Given the description of an element on the screen output the (x, y) to click on. 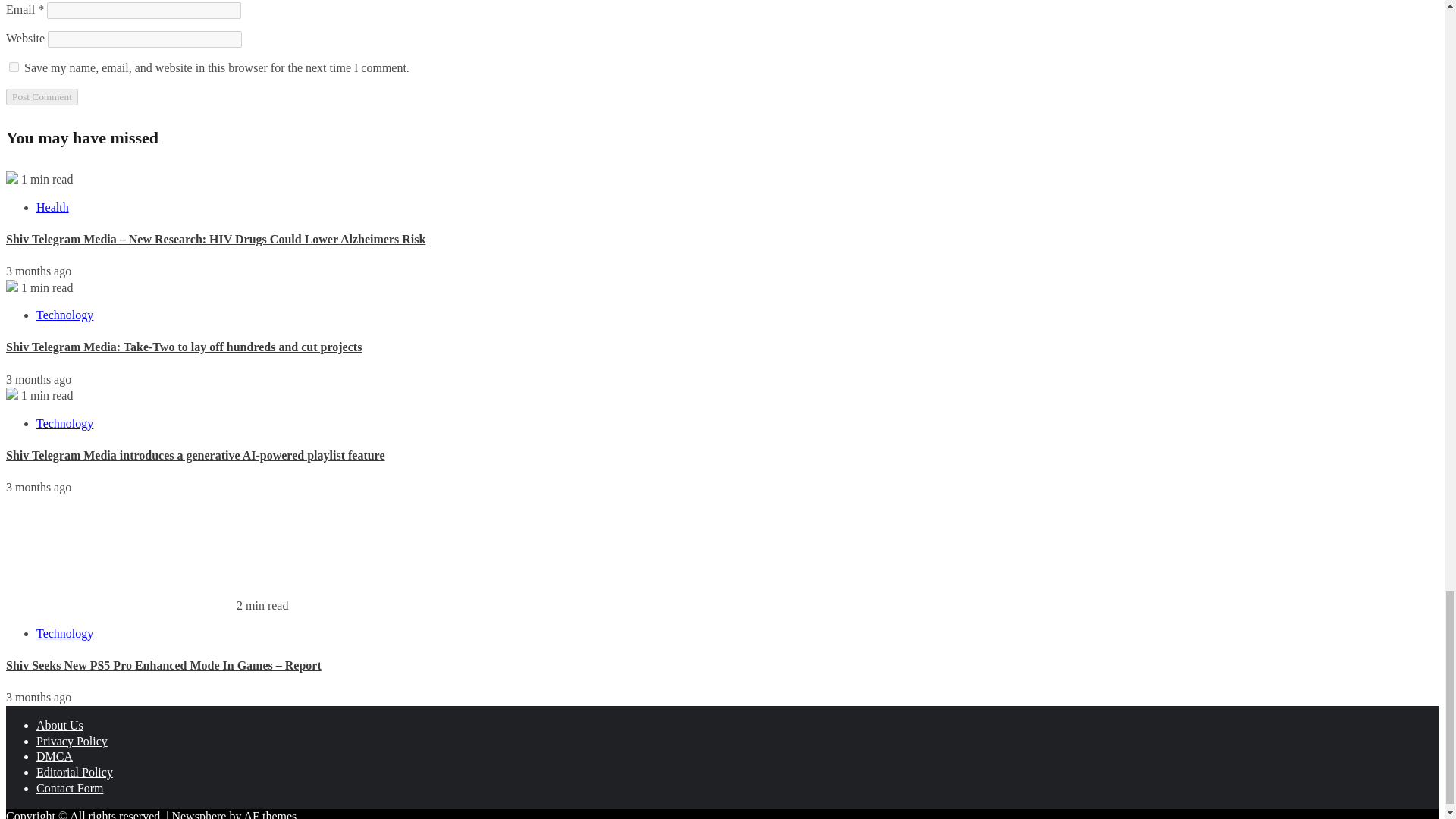
Health (52, 206)
Post Comment (41, 96)
yes (13, 67)
Post Comment (41, 96)
